Given the description of an element on the screen output the (x, y) to click on. 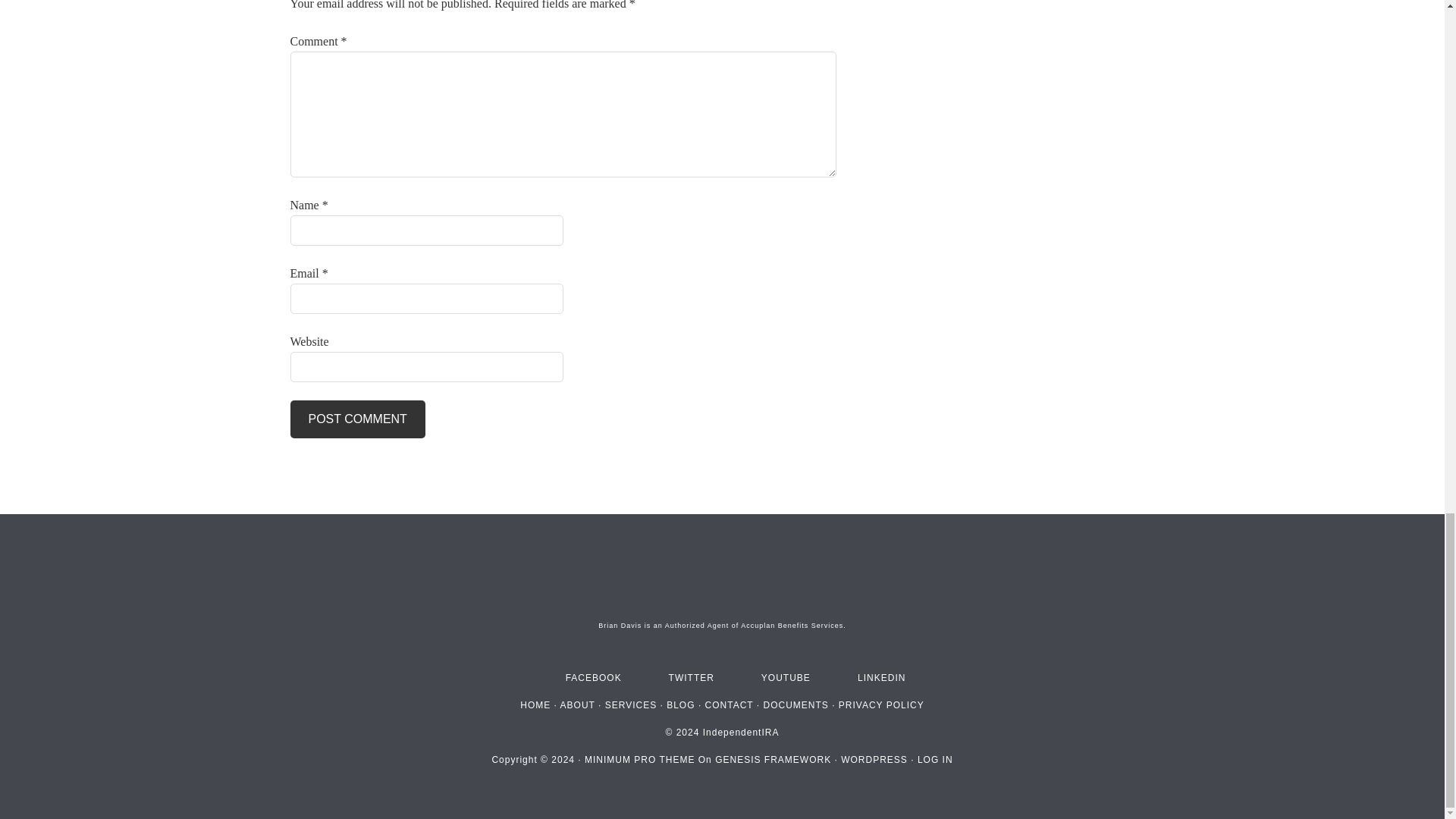
WORDPRESS (874, 759)
LOG IN (935, 759)
HOME (534, 705)
GENESIS FRAMEWORK (772, 759)
Post Comment (357, 419)
PRIVACY POLICY (881, 705)
ABOUT (577, 705)
FACEBOOK (579, 677)
CONTACT (729, 705)
TWITTER (669, 677)
